Given the description of an element on the screen output the (x, y) to click on. 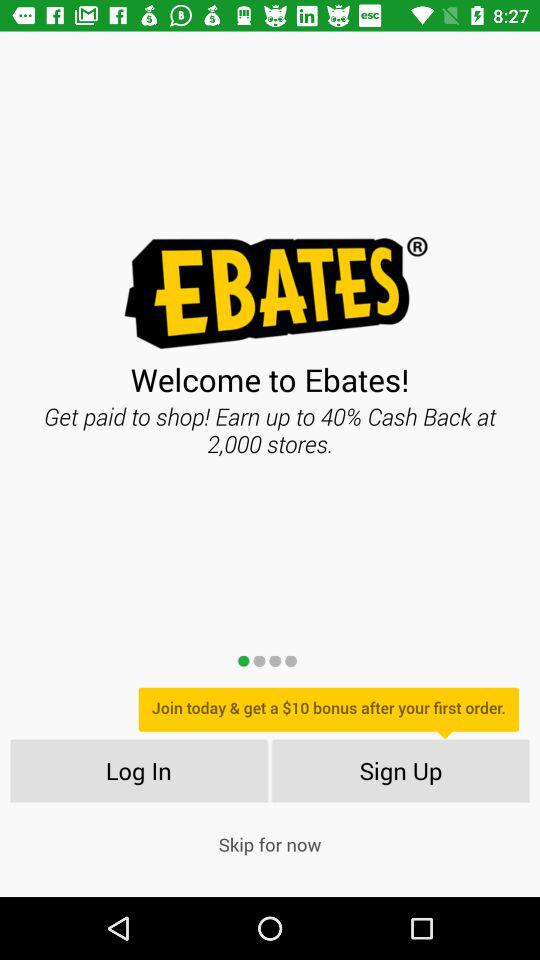
turn on icon above skip for now icon (138, 770)
